Given the description of an element on the screen output the (x, y) to click on. 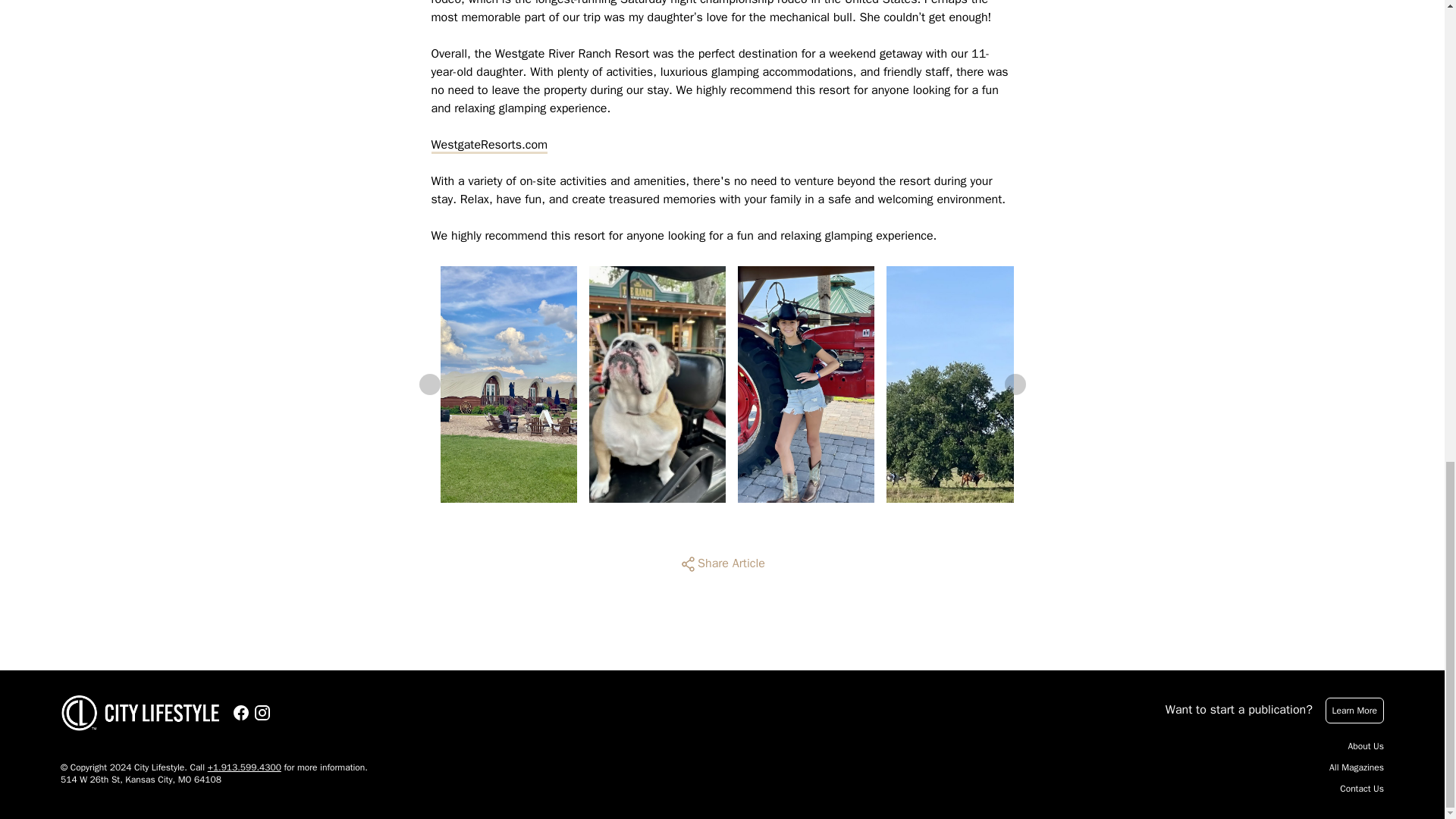
Share Article (722, 563)
Contact Us (1361, 788)
WestgateResorts.com (488, 144)
All Magazines (1356, 767)
About Us (1366, 746)
Learn More (1354, 710)
